Given the description of an element on the screen output the (x, y) to click on. 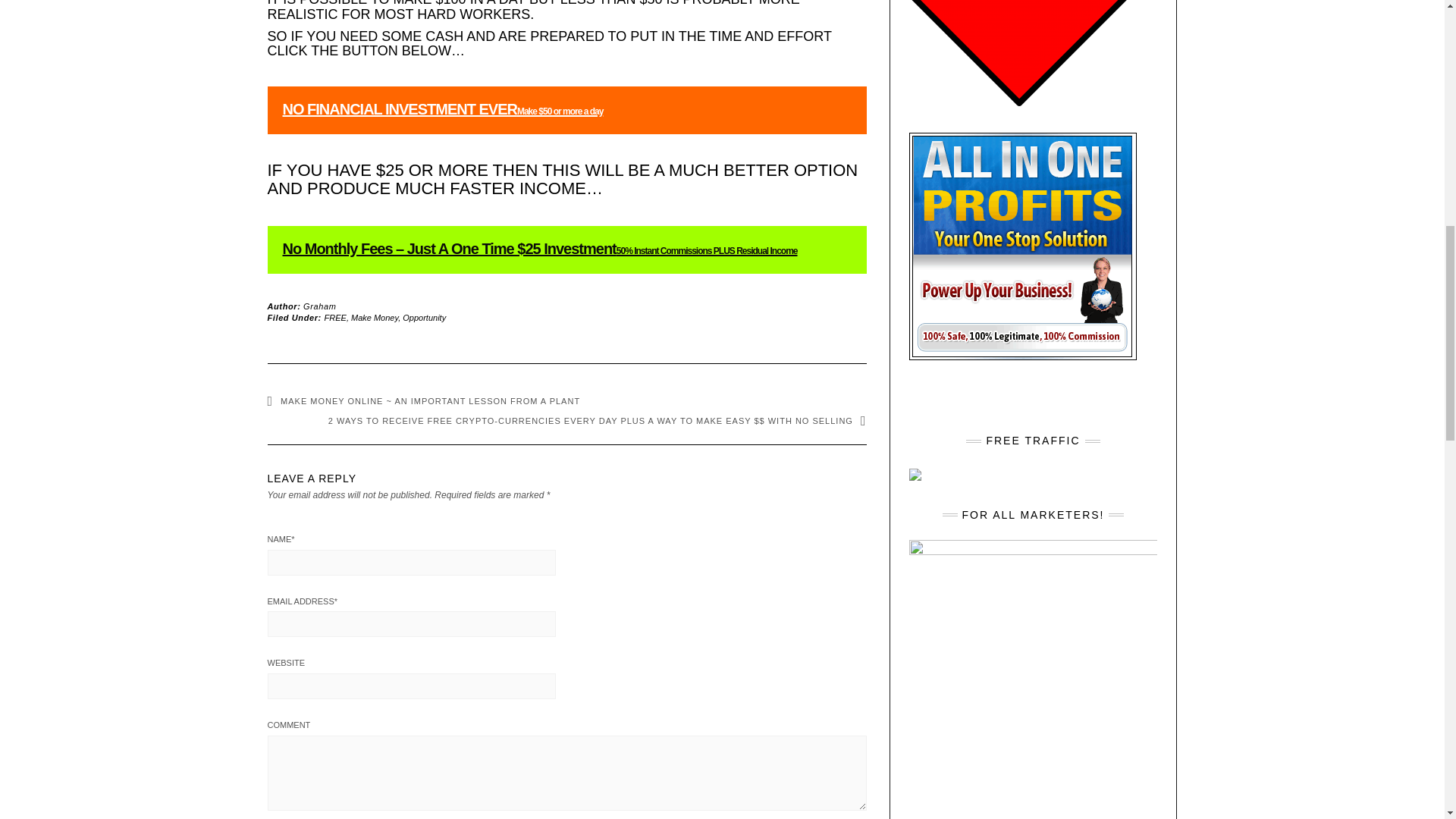
Posts by Graham (319, 306)
FREE (335, 317)
Opportunity (424, 317)
Graham (319, 306)
Make Money (373, 317)
